Given the description of an element on the screen output the (x, y) to click on. 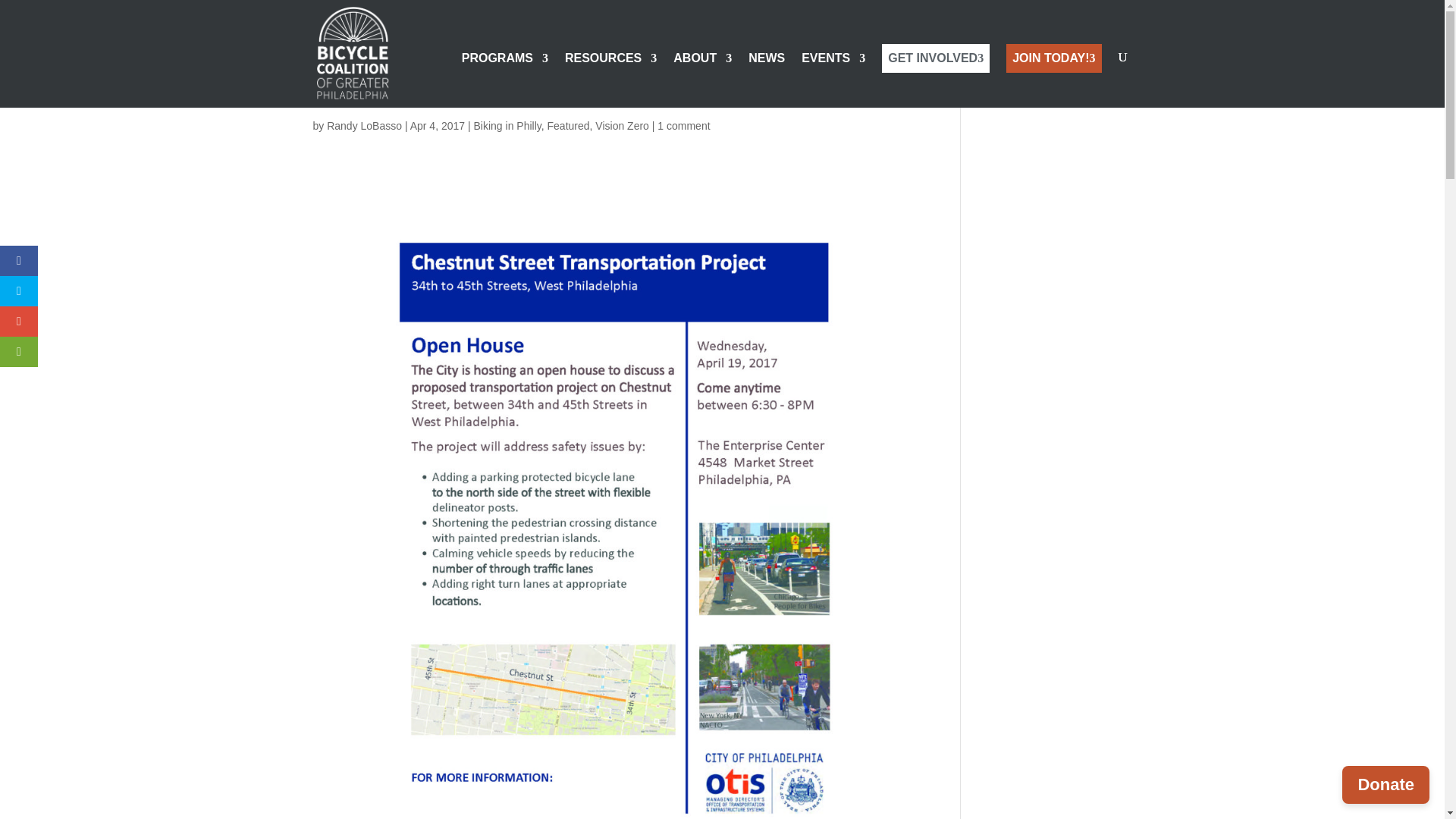
Posts by Randy LoBasso (363, 125)
PROGRAMS (504, 80)
ABOUT (702, 80)
RESOURCES (610, 80)
Search (1106, 85)
